Given the description of an element on the screen output the (x, y) to click on. 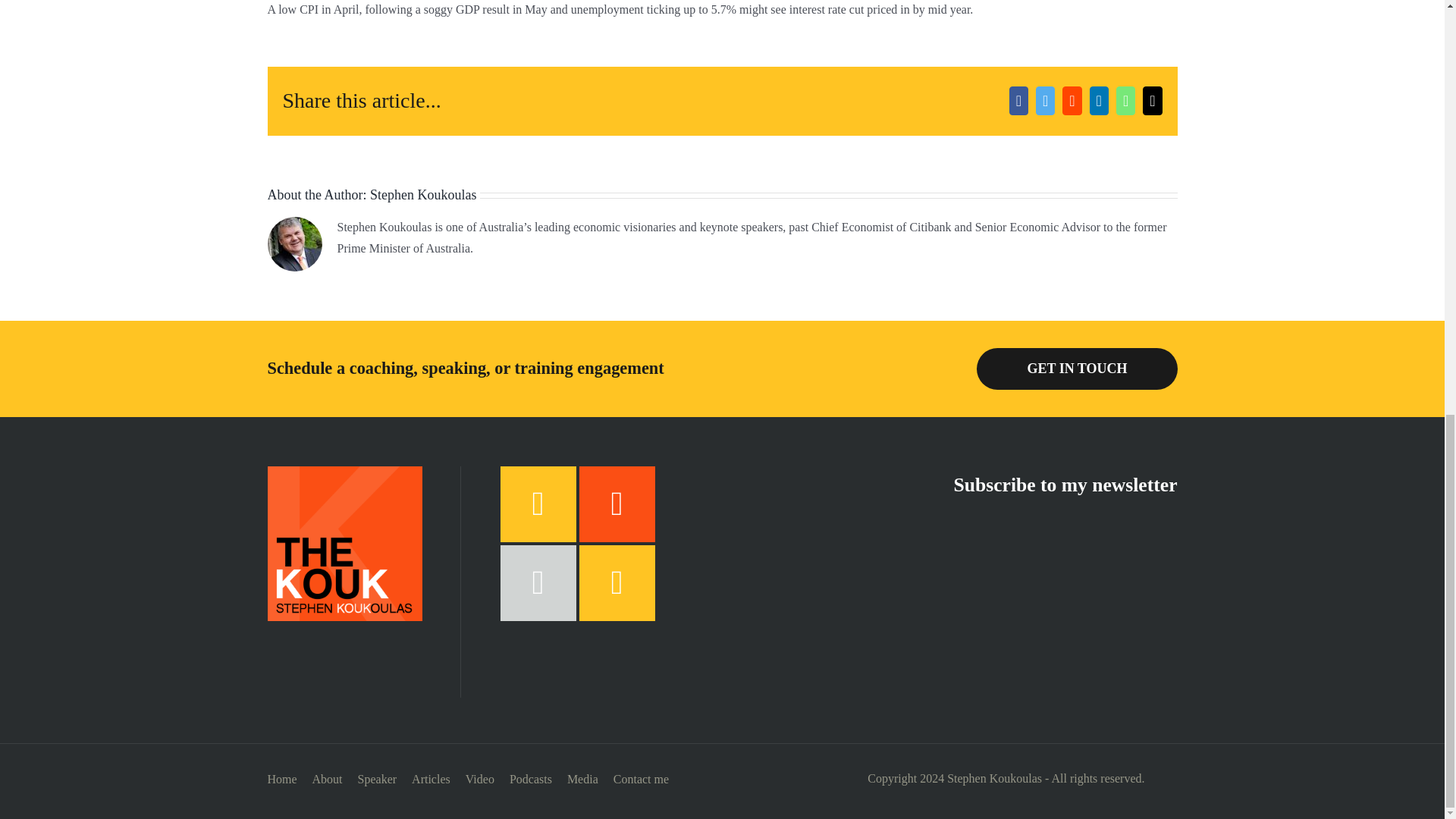
GET IN TOUCH (1076, 368)
Stephen Koukoulas (422, 194)
Posts by Stephen Koukoulas (422, 194)
